Given the description of an element on the screen output the (x, y) to click on. 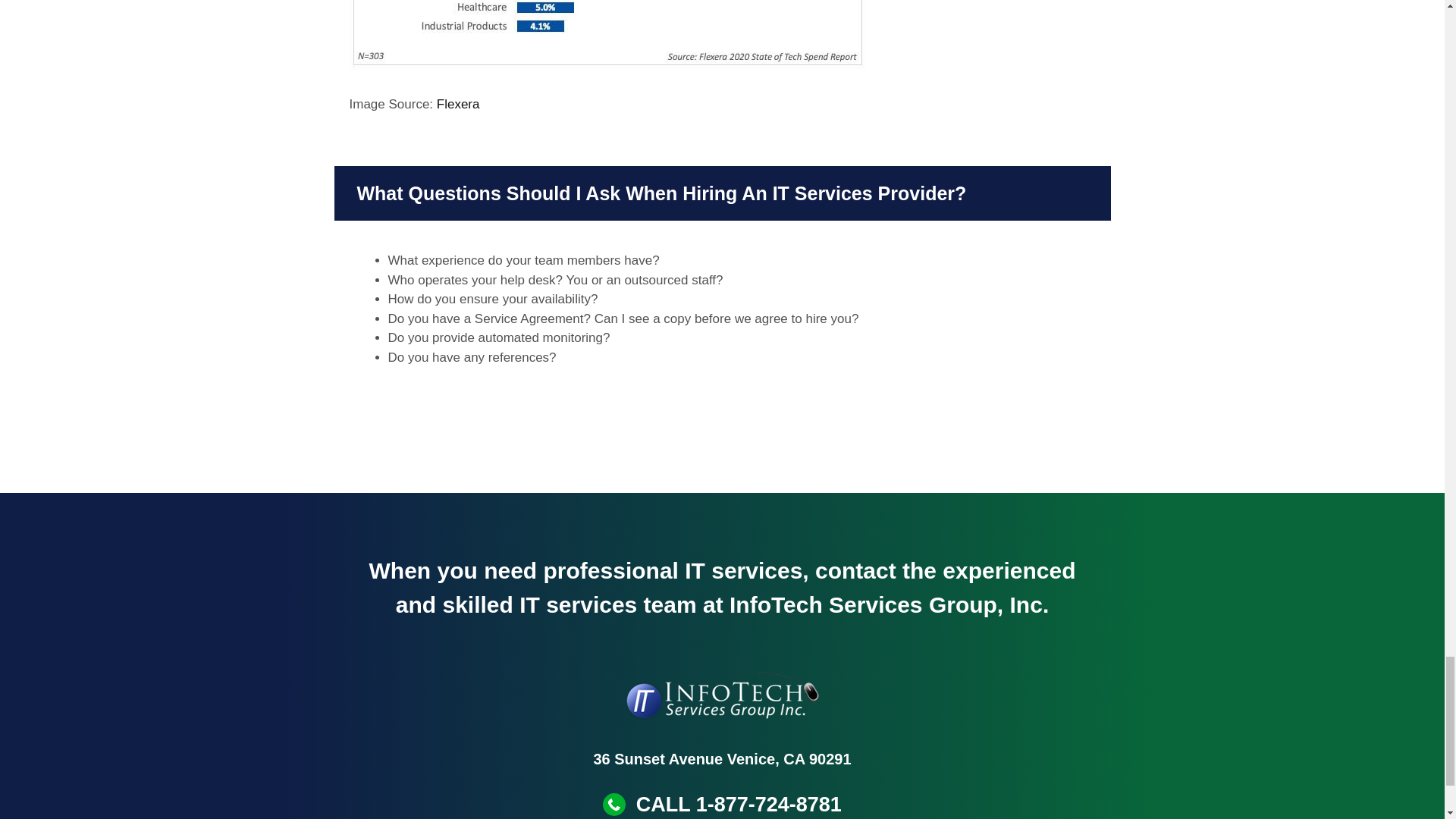
CALL 1-877-724-8781 (738, 804)
36 Sunset Avenue Venice, CA 90291 (721, 759)
Flexera (458, 104)
